Given the description of an element on the screen output the (x, y) to click on. 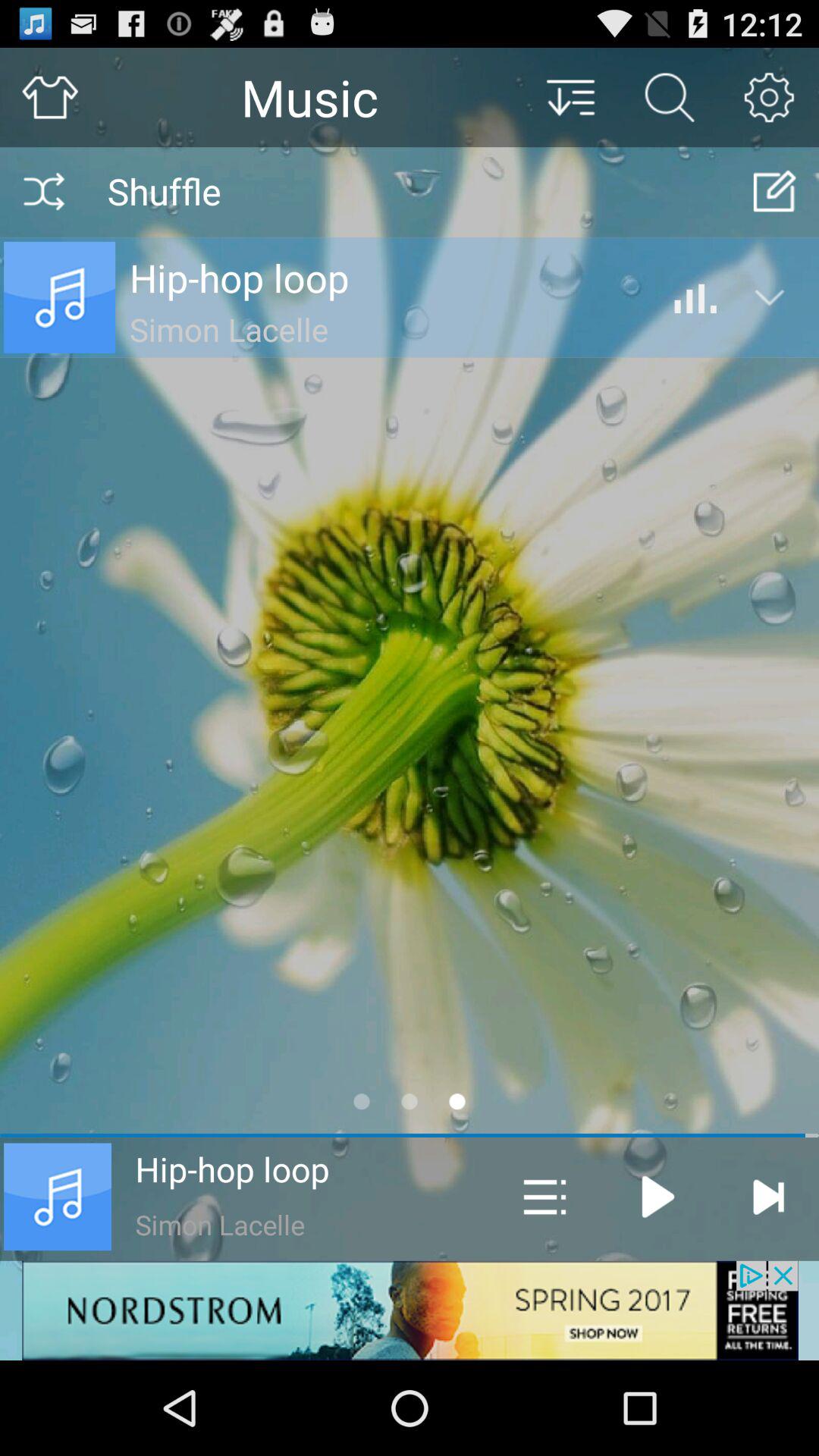
launch the app below simon lacelle (409, 1310)
